Given the description of an element on the screen output the (x, y) to click on. 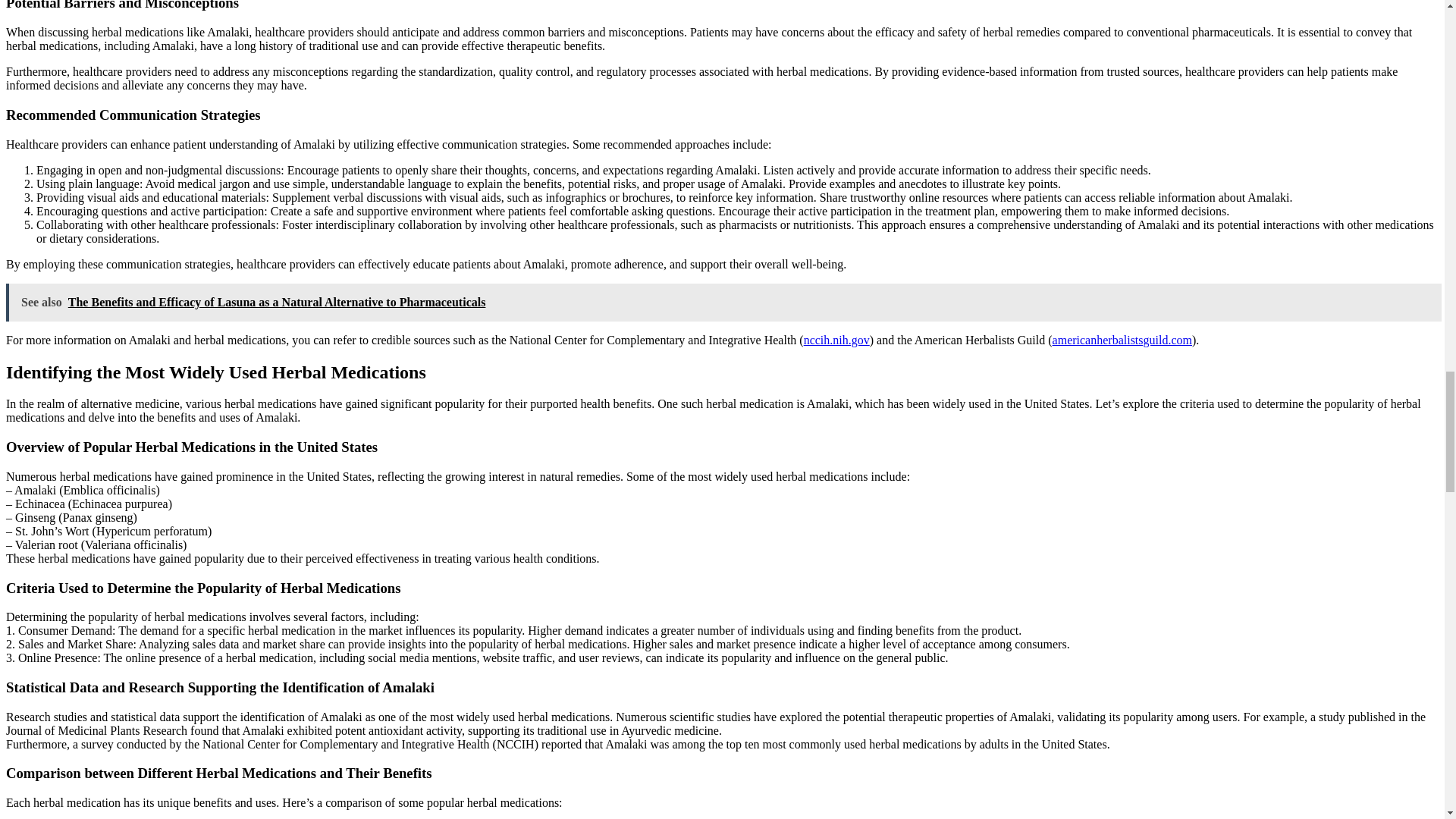
americanherbalistsguild.com (1122, 339)
nccih.nih.gov (836, 339)
